Given the description of an element on the screen output the (x, y) to click on. 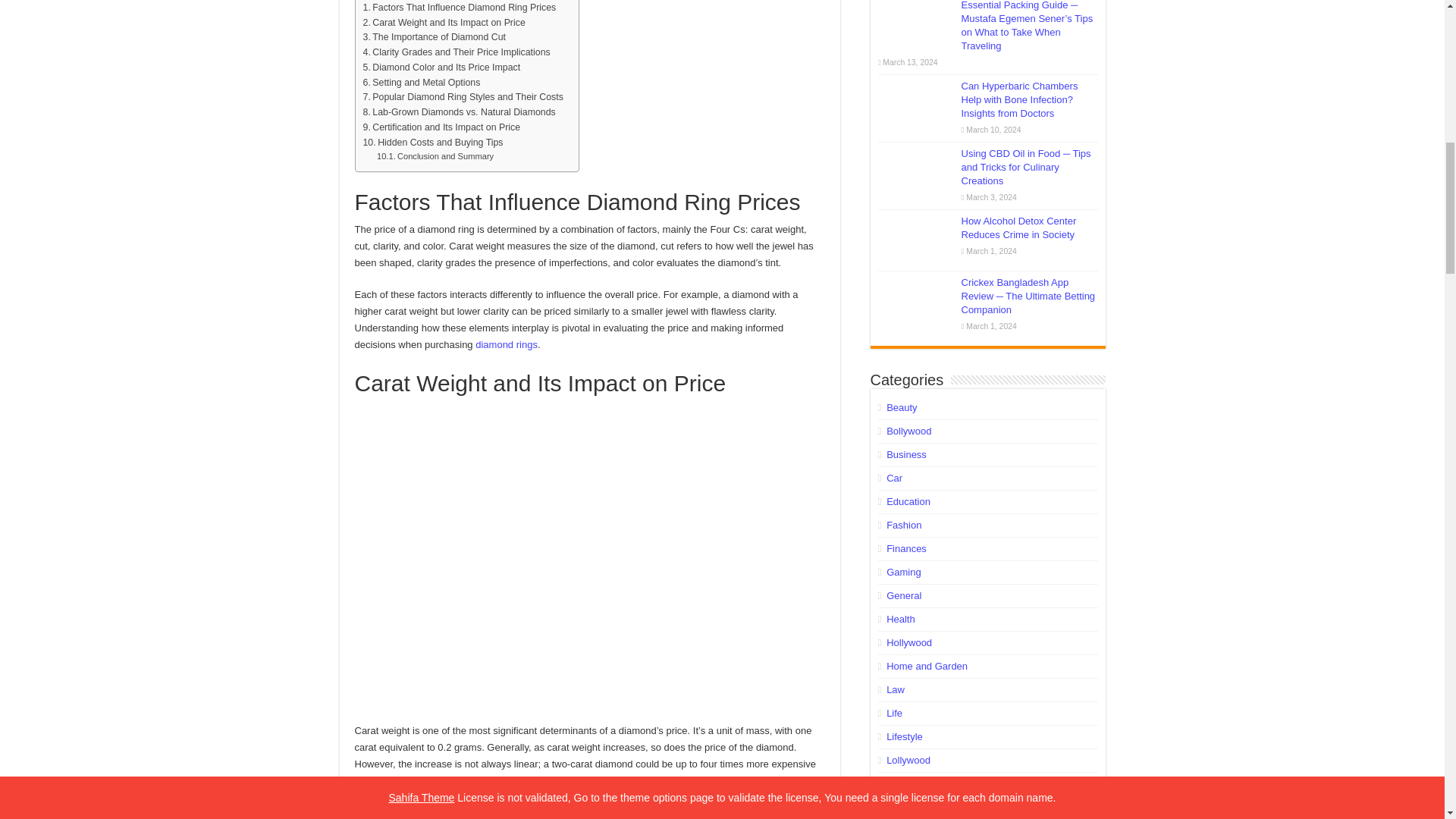
The Importance of Diamond Cut (433, 37)
Setting and Metal Options (421, 83)
Certification and Its Impact on Price (440, 127)
diamond rings (506, 344)
Lab-Grown Diamonds vs. Natural Diamonds (458, 112)
Hidden Costs and Buying Tips (432, 142)
Certification and Its Impact on Price (440, 127)
Popular Diamond Ring Styles and Their Costs (462, 97)
Clarity Grades and Their Price Implications (456, 52)
Diamond Color and Its Price Impact (440, 68)
Hidden Costs and Buying Tips (432, 142)
Clarity Grades and Their Price Implications (456, 52)
Carat Weight and Its Impact on Price (443, 23)
Carat Weight and Its Impact on Price (443, 23)
The Importance of Diamond Cut (433, 37)
